Given the description of an element on the screen output the (x, y) to click on. 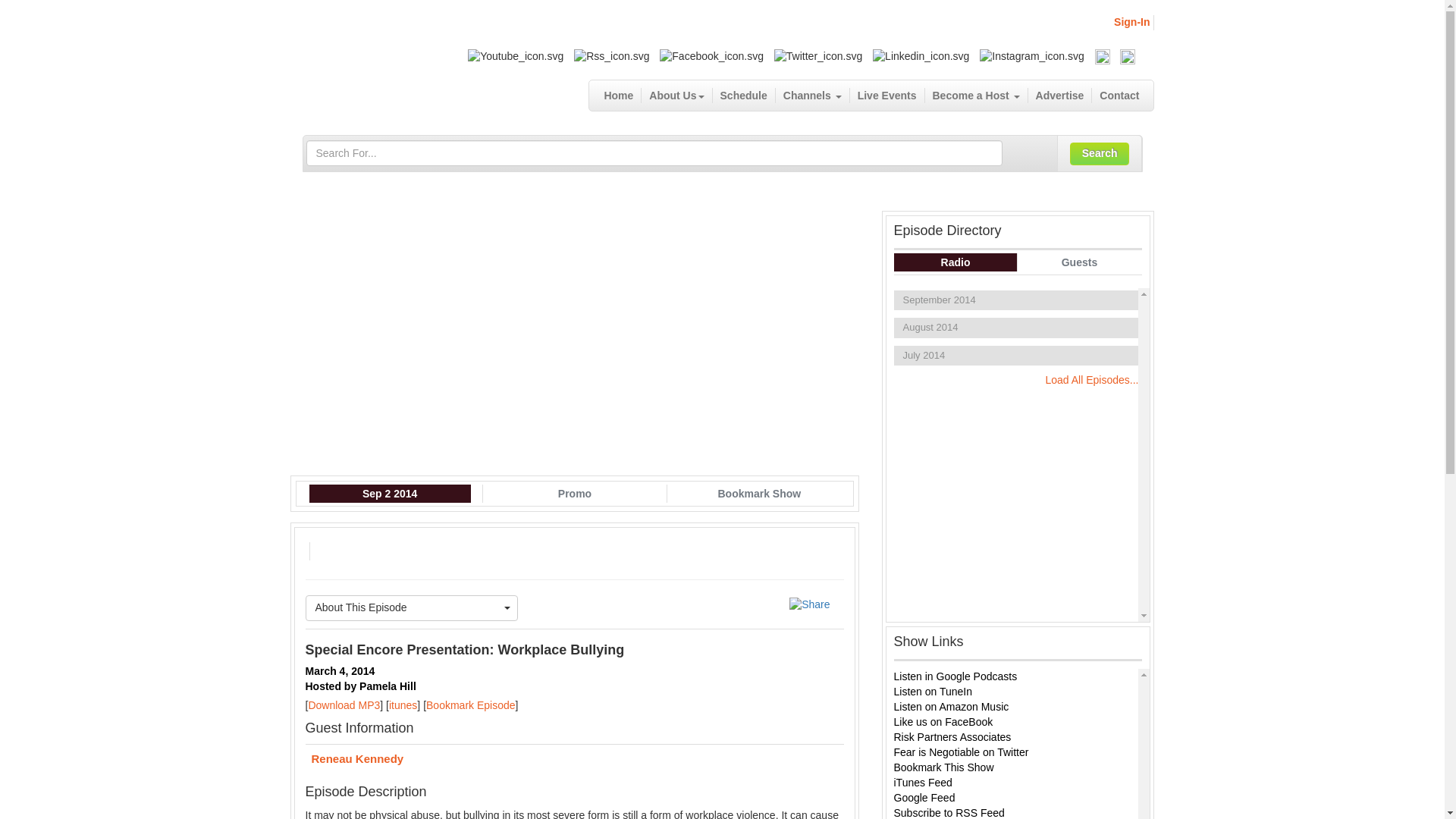
itunes (402, 705)
Reneau Kennedy (573, 760)
Promo (575, 493)
Schedule (744, 95)
Home (618, 95)
Advertise (1060, 95)
Sep 2 2014 (389, 493)
About This Episode (411, 607)
Bookmark Episode (470, 705)
Bookmark Show (759, 493)
